Given the description of an element on the screen output the (x, y) to click on. 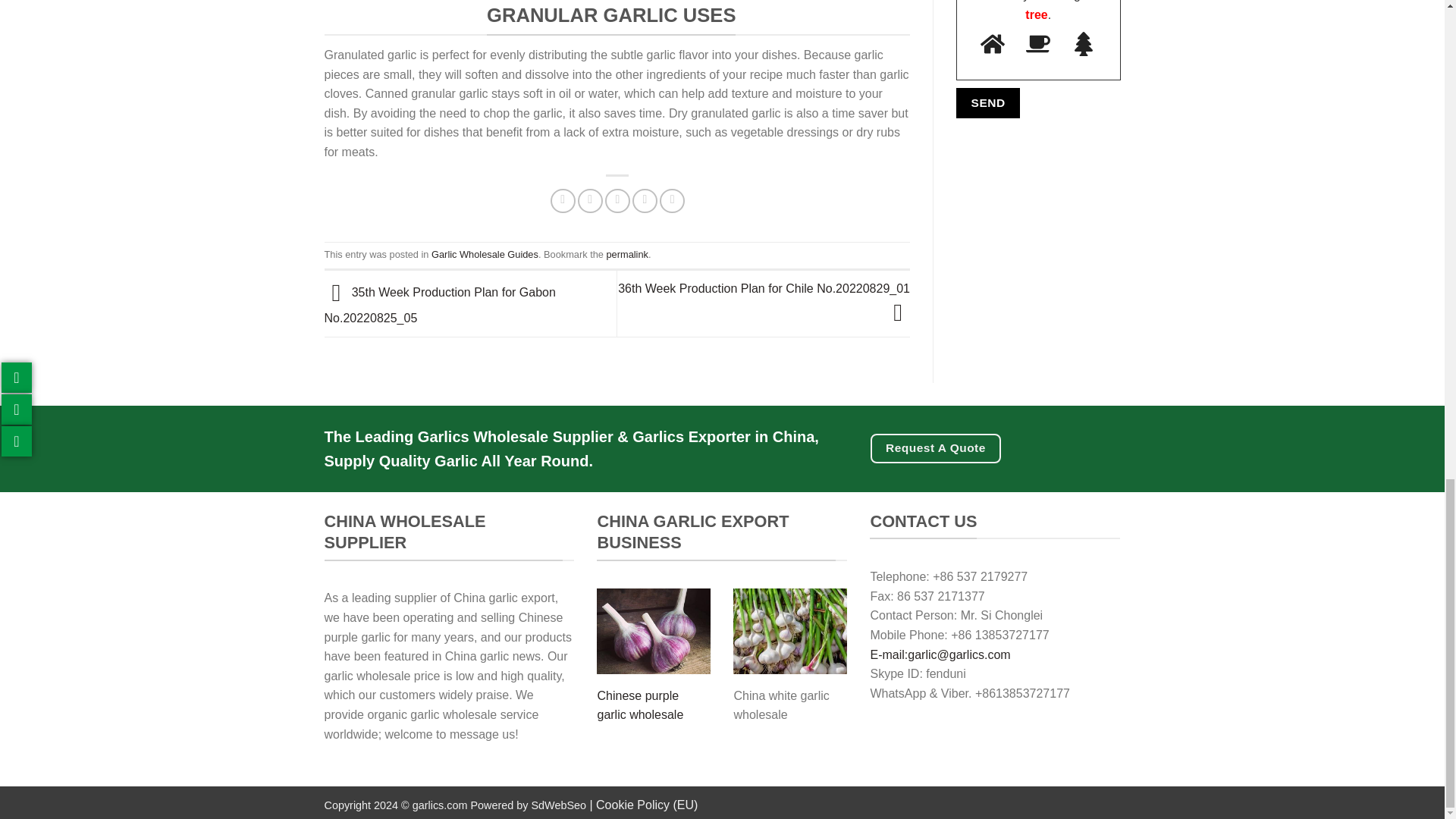
Email to a Friend (617, 200)
Share on LinkedIn (671, 200)
Pin on Pinterest (644, 200)
Garlic Wholesale Guides (484, 254)
Send (988, 102)
Permalink to What is Granulated Garlic (627, 254)
permalink (627, 254)
Share on Twitter (590, 200)
Share on Facebook (562, 200)
